Given the description of an element on the screen output the (x, y) to click on. 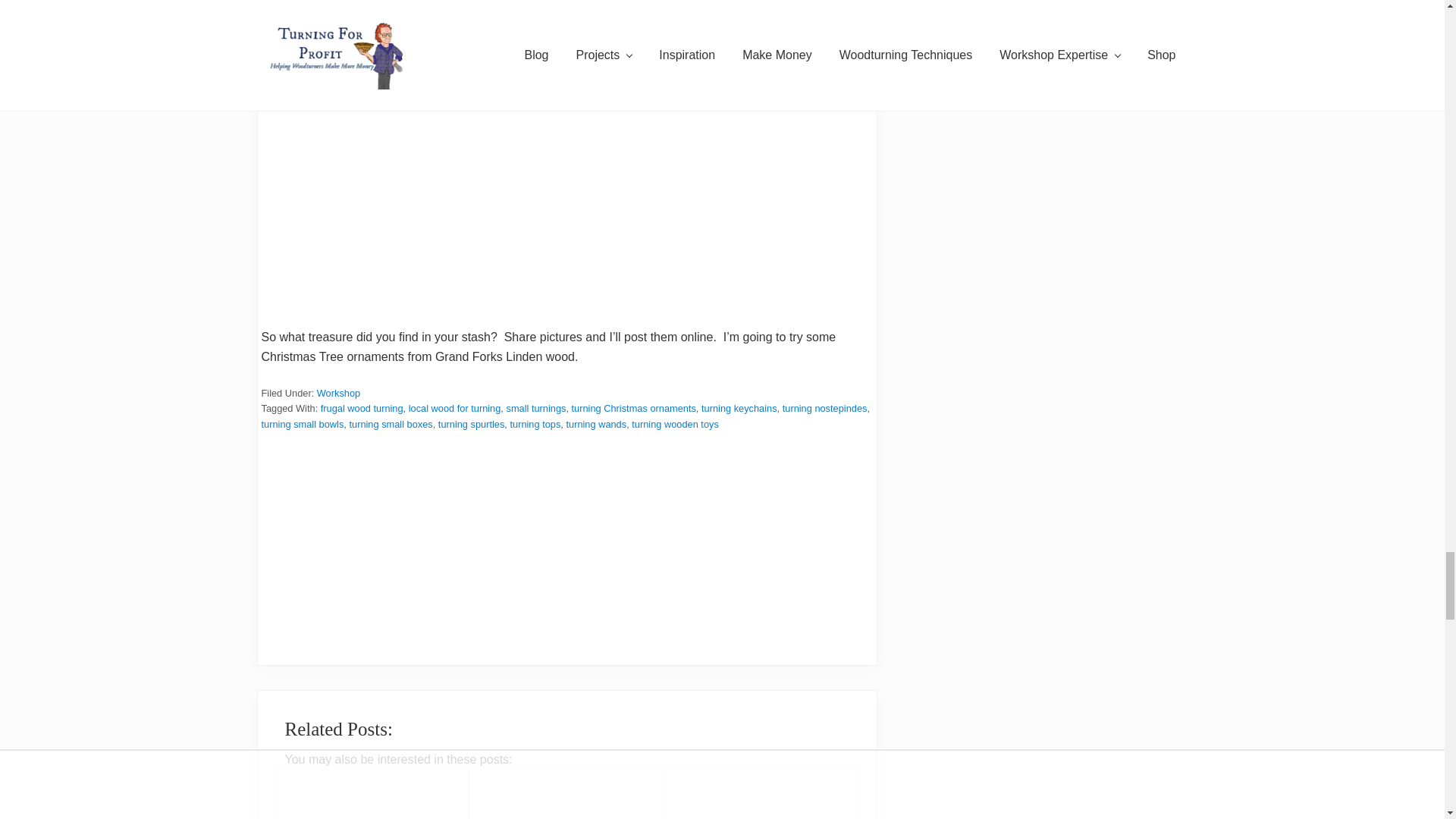
Woodturning Shop Notes (566, 794)
Turning Blanks from your Table Saw (370, 794)
9 Shop Safety Tips for Woodturners (763, 794)
